Given the description of an element on the screen output the (x, y) to click on. 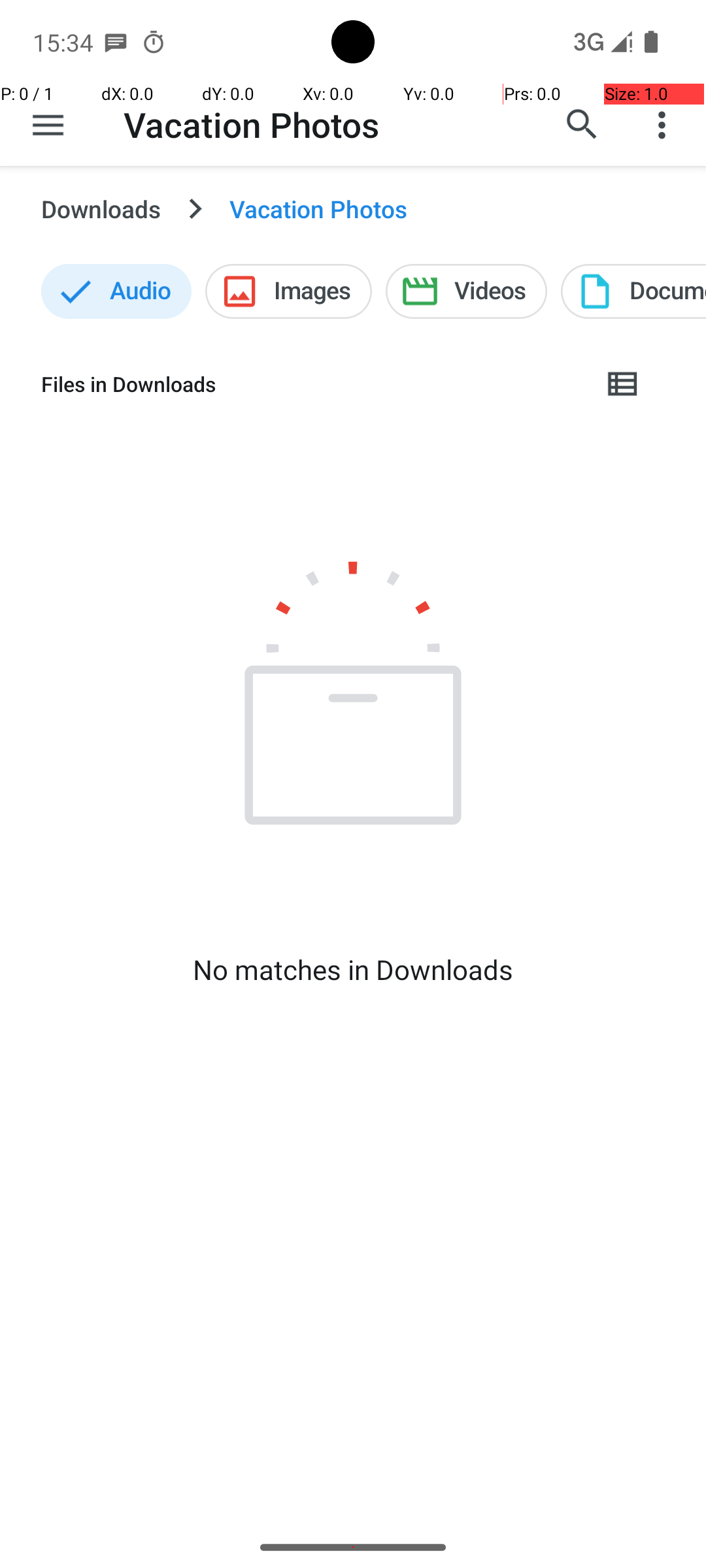
Vacation Photos Element type: android.widget.TextView (251, 124)
